Given the description of an element on the screen output the (x, y) to click on. 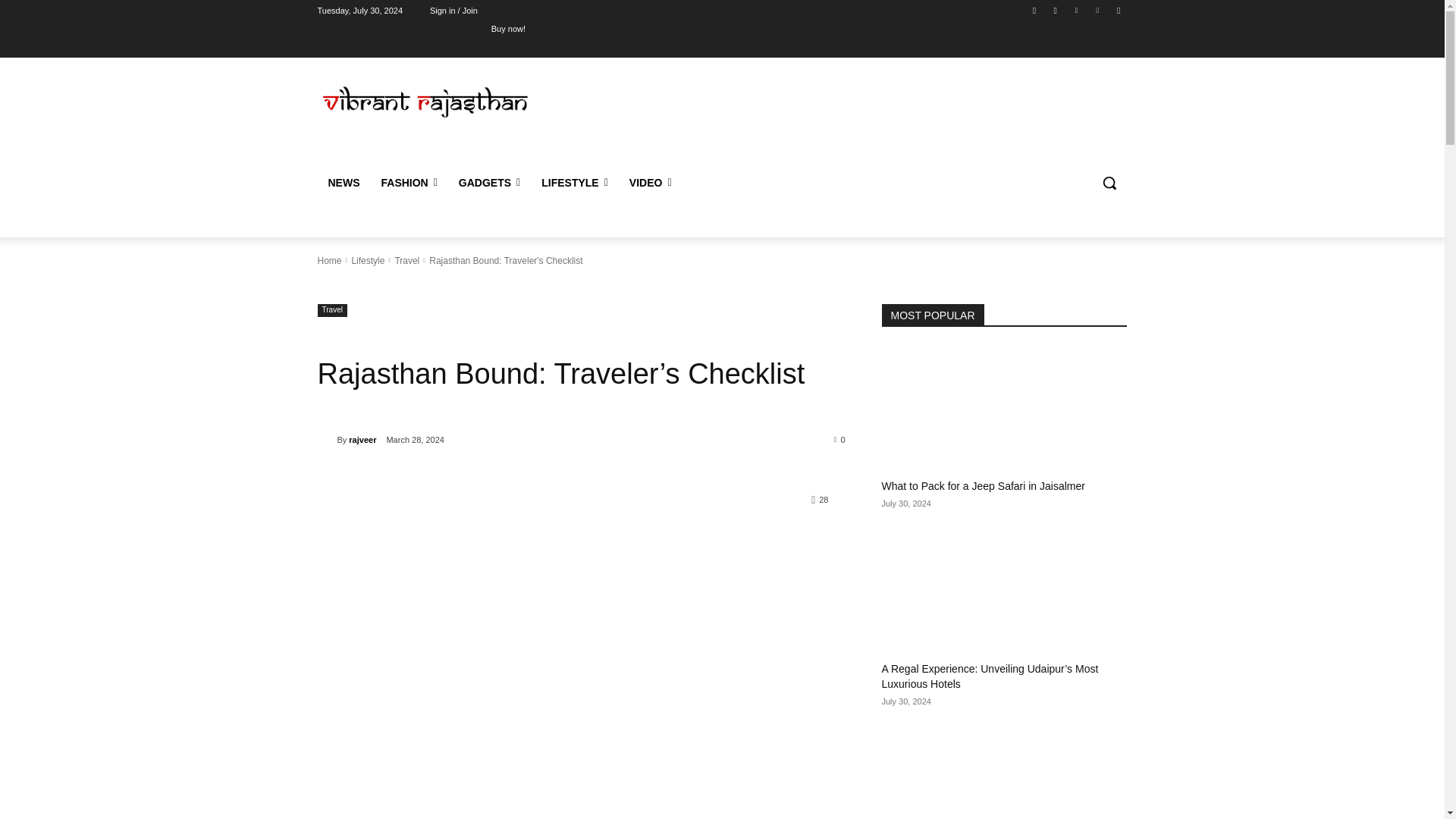
Facebook (1034, 9)
Youtube (1117, 9)
Buy now! (508, 28)
Twitter (1075, 9)
Instagram (1055, 9)
NEWS (343, 182)
Vimeo (1097, 9)
FASHION (407, 182)
